Given the description of an element on the screen output the (x, y) to click on. 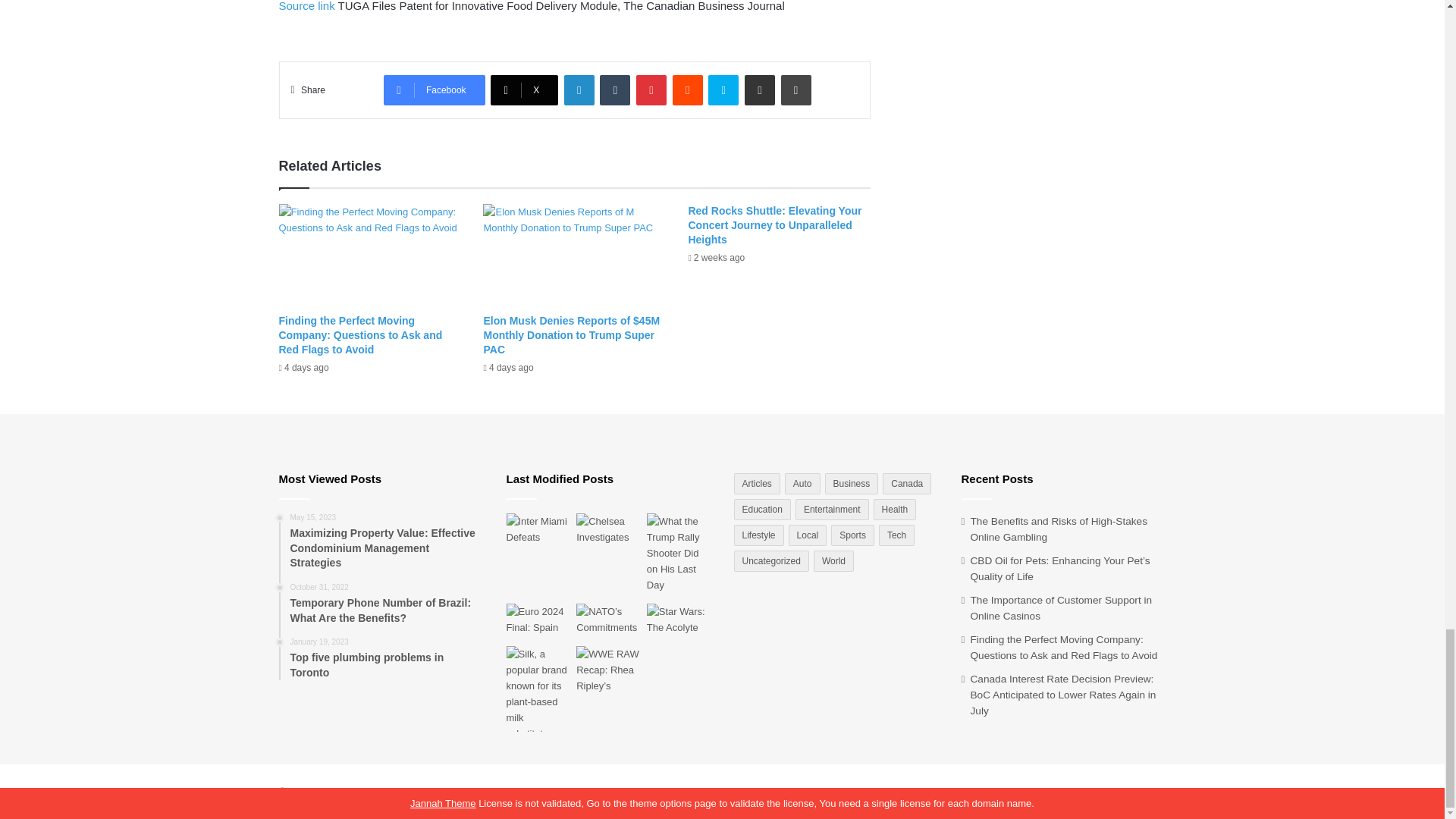
Reddit (687, 90)
Source link (308, 6)
X (523, 90)
Tumblr (614, 90)
Facebook (434, 90)
Skype (722, 90)
Pinterest (651, 90)
Skype (722, 90)
Facebook (434, 90)
Pinterest (651, 90)
X (523, 90)
LinkedIn (579, 90)
Tumblr (614, 90)
LinkedIn (579, 90)
Reddit (687, 90)
